Given the description of an element on the screen output the (x, y) to click on. 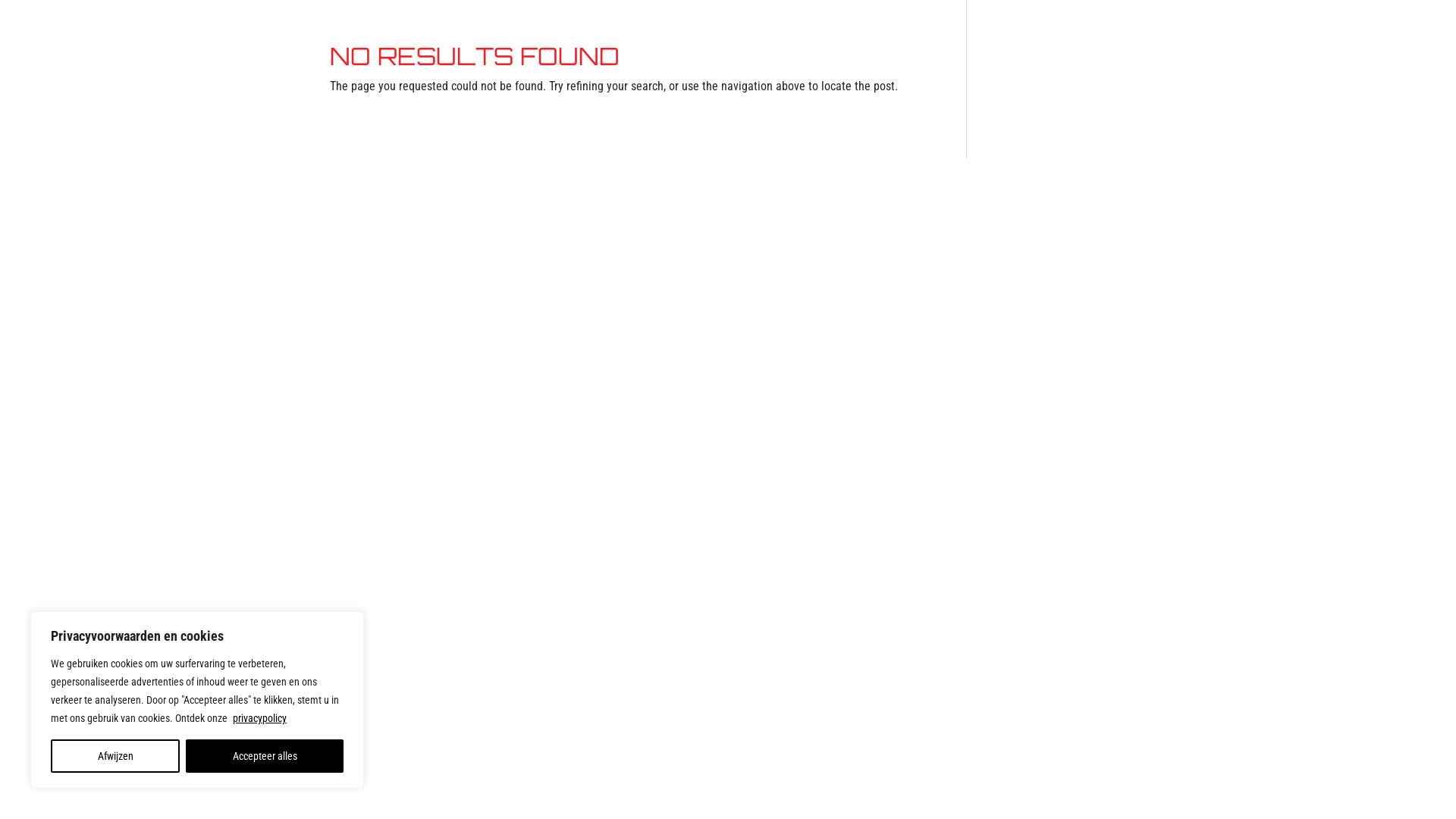
privacypolicy Element type: text (259, 717)
Accepteer alles Element type: text (264, 755)
Afwijzen Element type: text (114, 755)
